Given the description of an element on the screen output the (x, y) to click on. 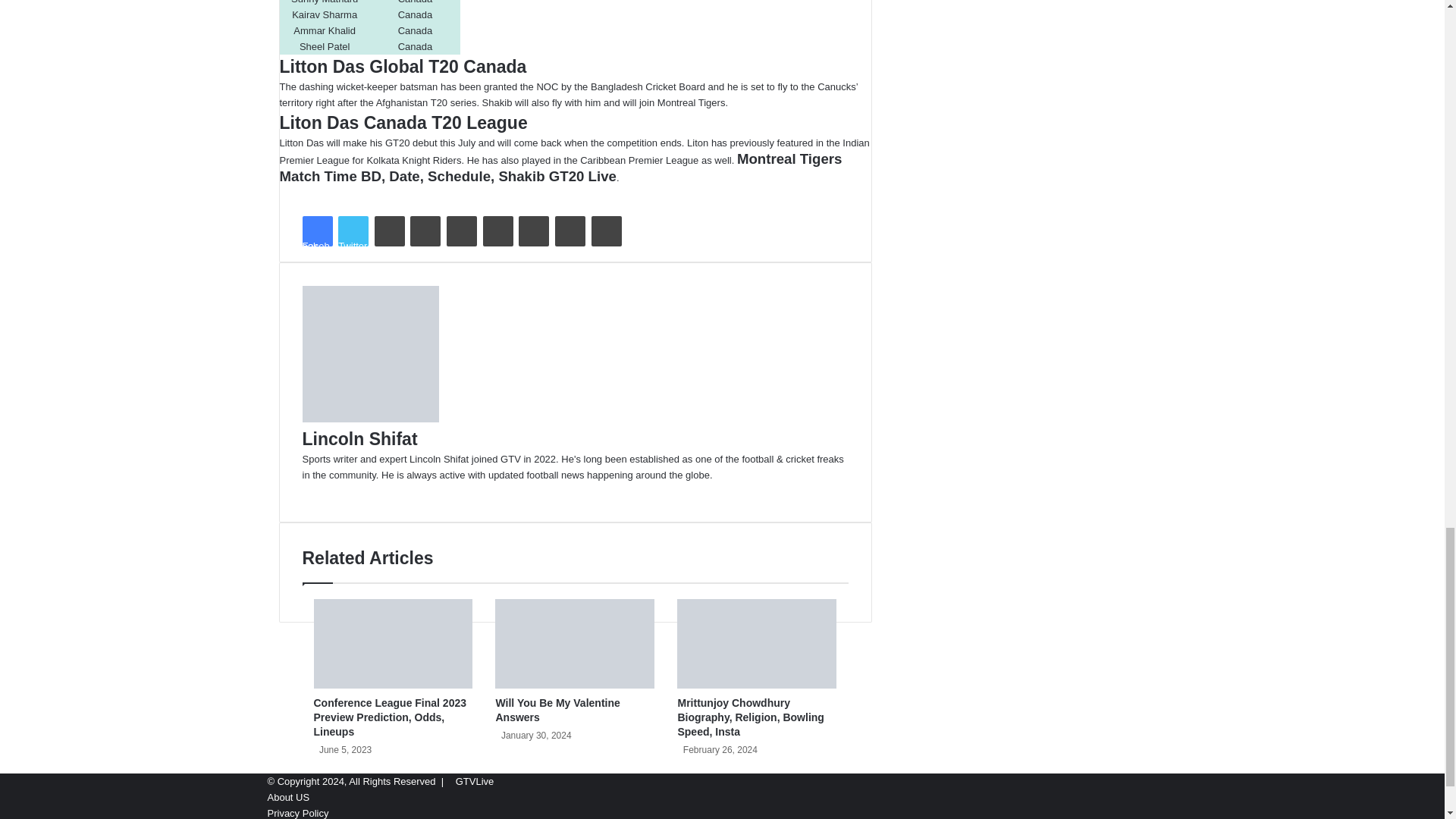
Facebook (316, 231)
Pinterest (461, 231)
Facebook (316, 231)
Reddit (498, 231)
Share via Email (569, 231)
LinkedIn (389, 231)
Twitter (352, 231)
VKontakte (533, 231)
Print (606, 231)
